Given the description of an element on the screen output the (x, y) to click on. 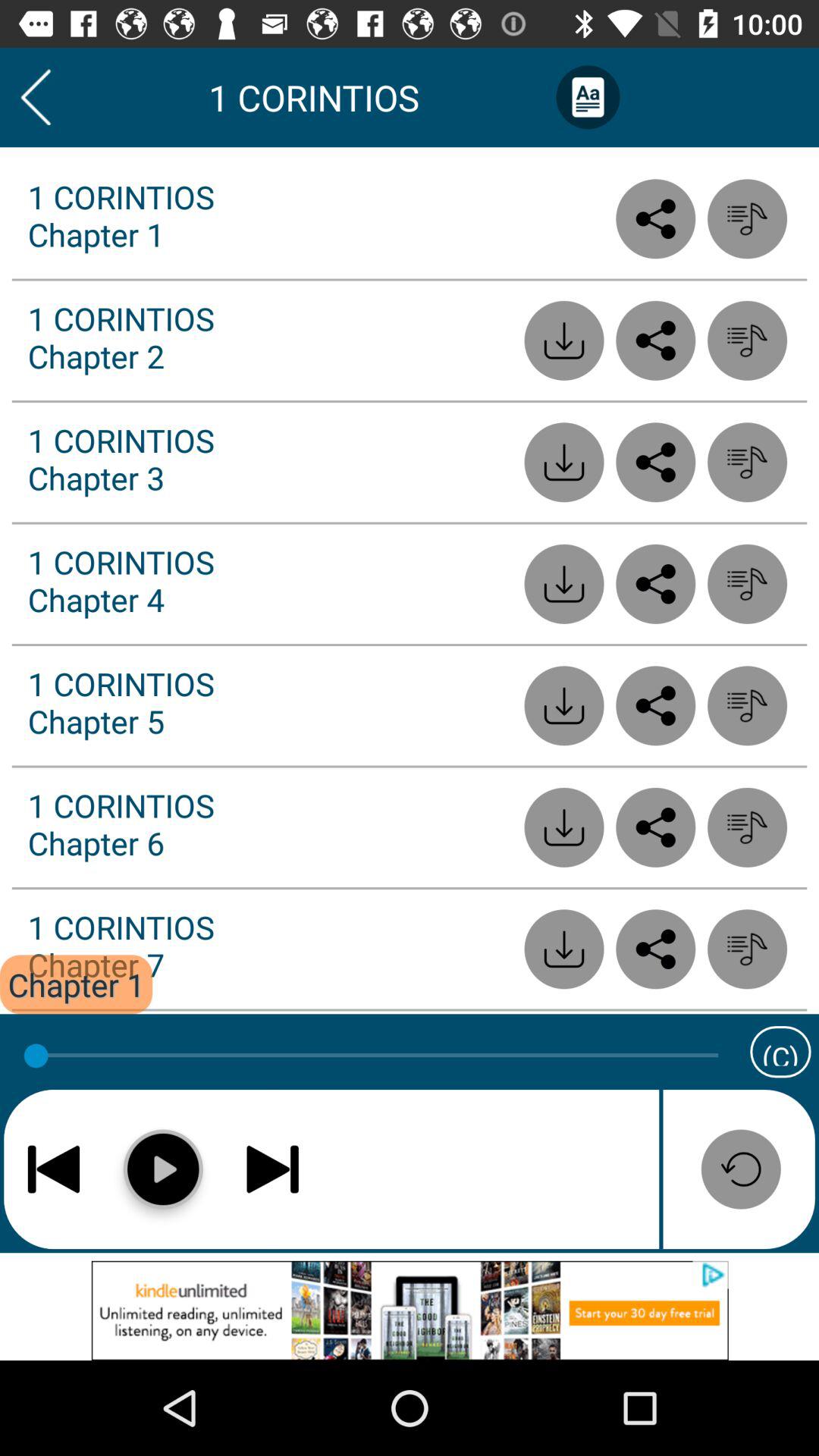
skip to next chapter (272, 1168)
